Given the description of an element on the screen output the (x, y) to click on. 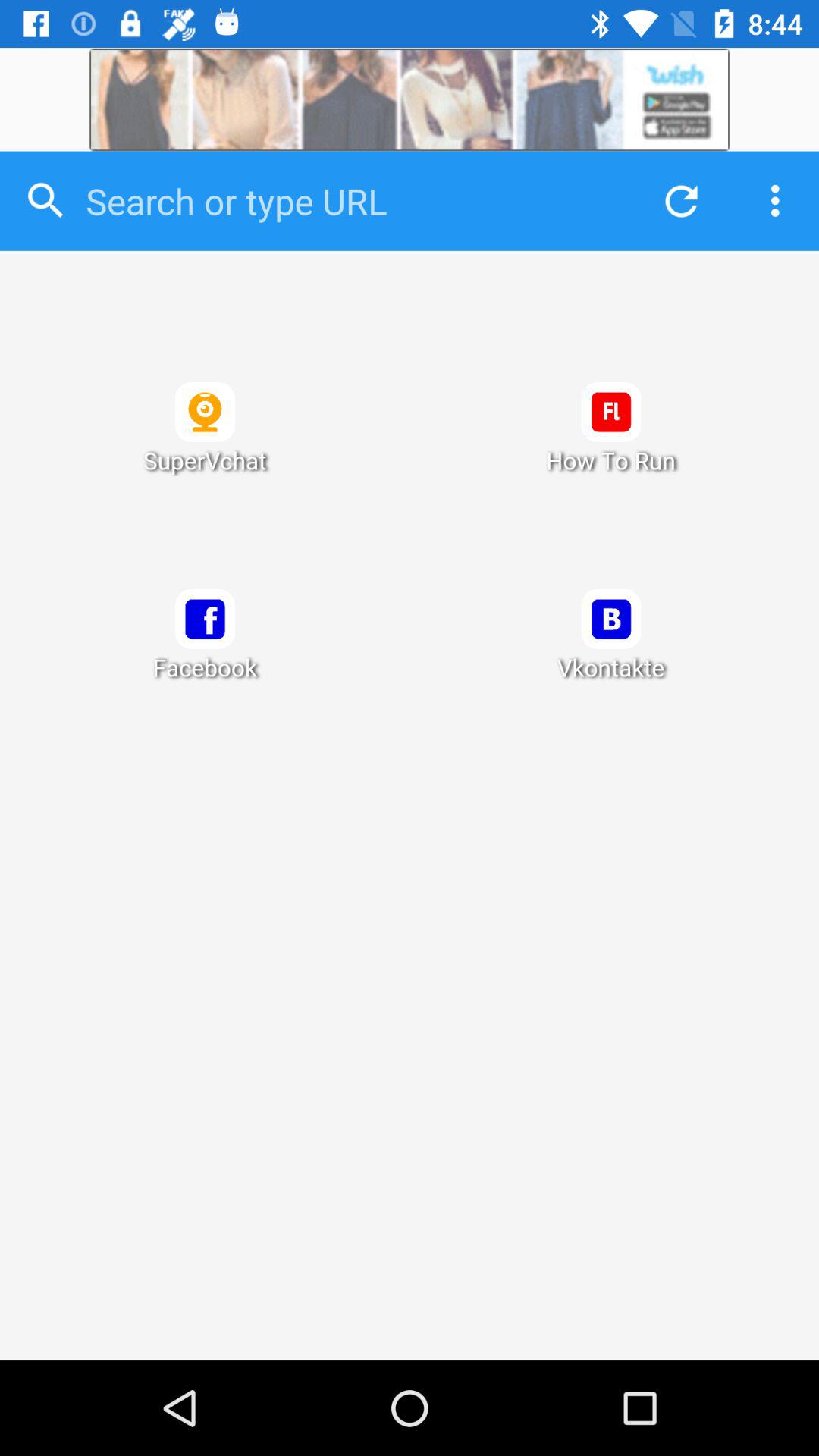
refesh selection (677, 200)
